Given the description of an element on the screen output the (x, y) to click on. 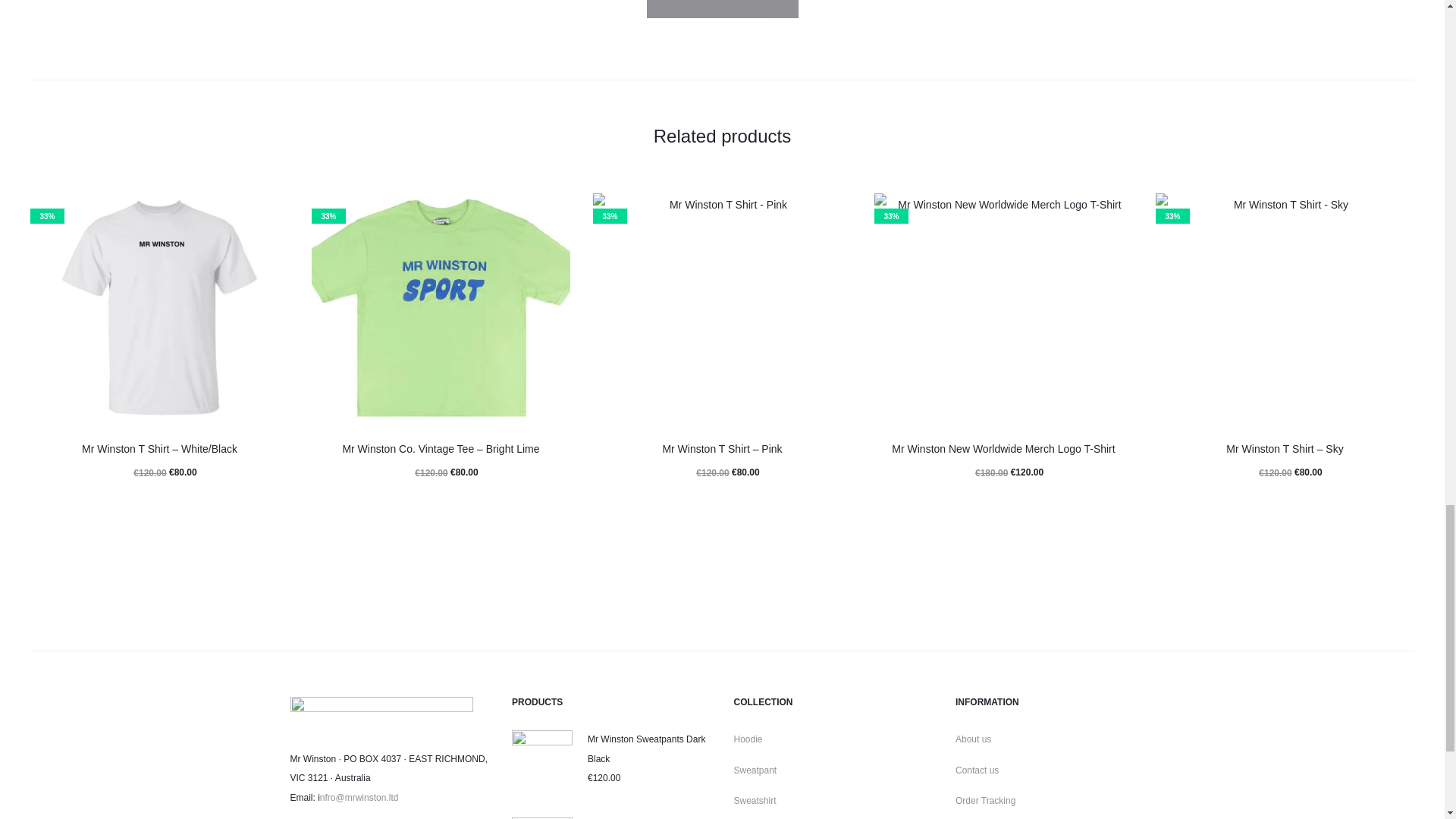
Mr Winston New Worldwide Merch Logo T-Shirt (1003, 449)
Submit (721, 9)
Submit (721, 9)
